Given the description of an element on the screen output the (x, y) to click on. 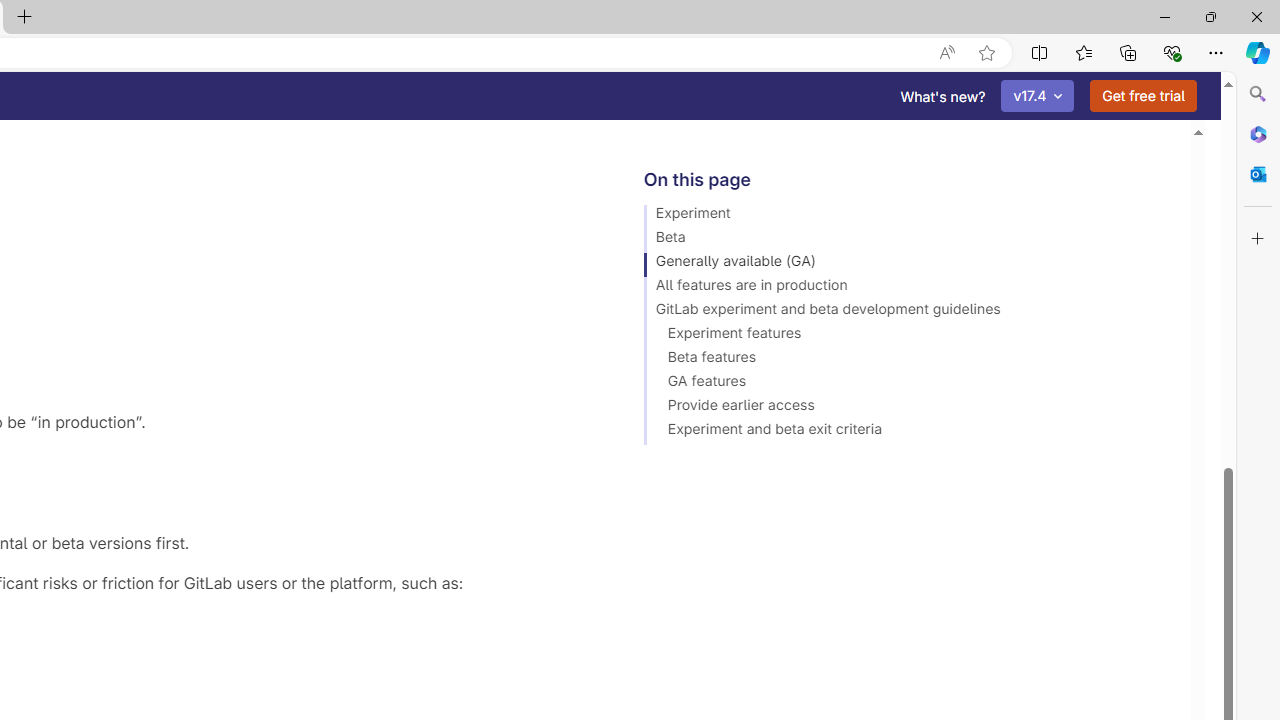
Provide earlier access (908, 408)
Beta (908, 240)
Beta features (908, 359)
Generally available (GA) (908, 264)
Provide earlier access (908, 408)
GitLab experiment and beta development guidelines (908, 312)
Get free trial (1143, 95)
